Given the description of an element on the screen output the (x, y) to click on. 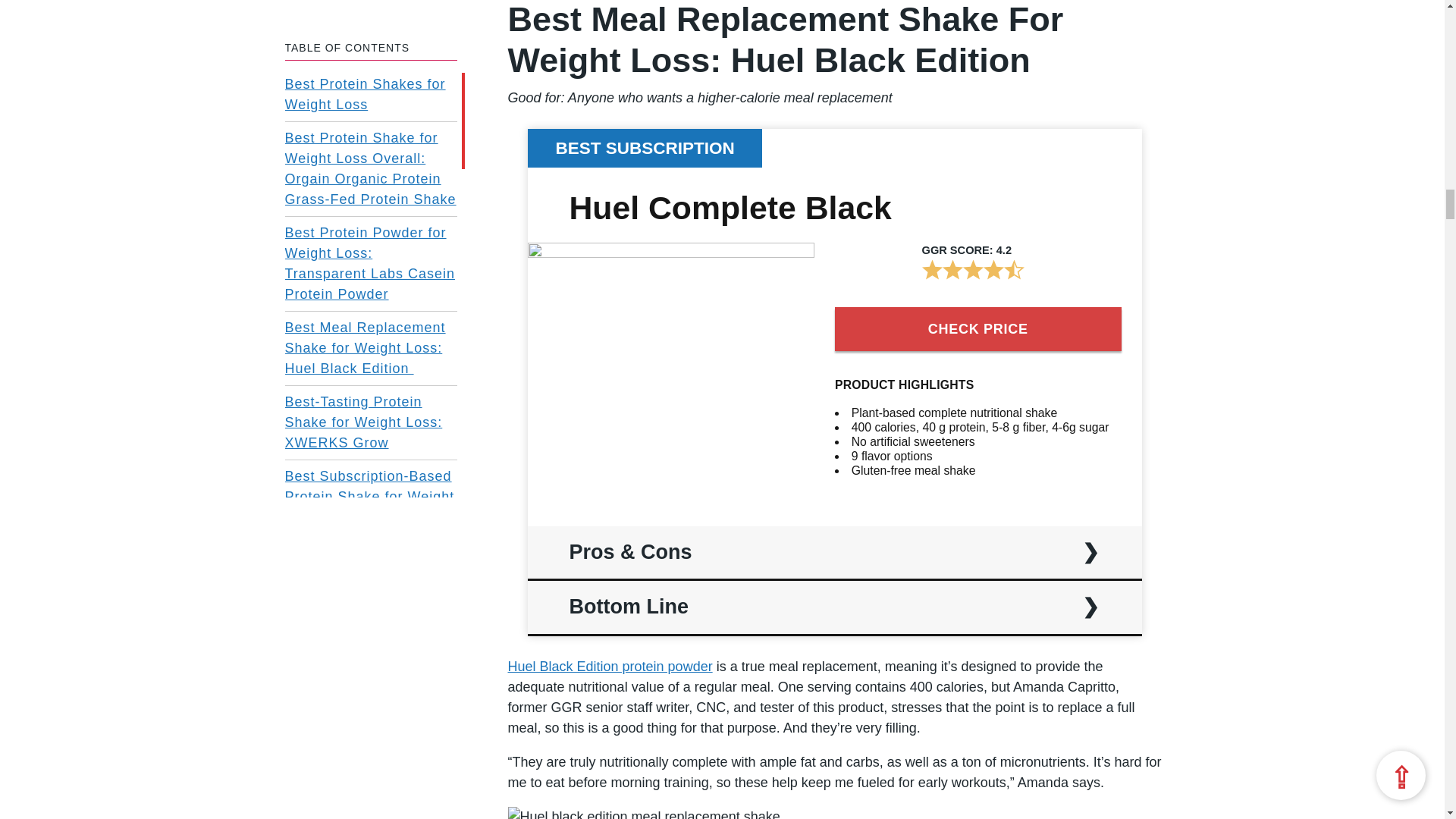
Huel Complete Black (730, 207)
Check Price (977, 329)
Huel Complete Black (670, 252)
